Given the description of an element on the screen output the (x, y) to click on. 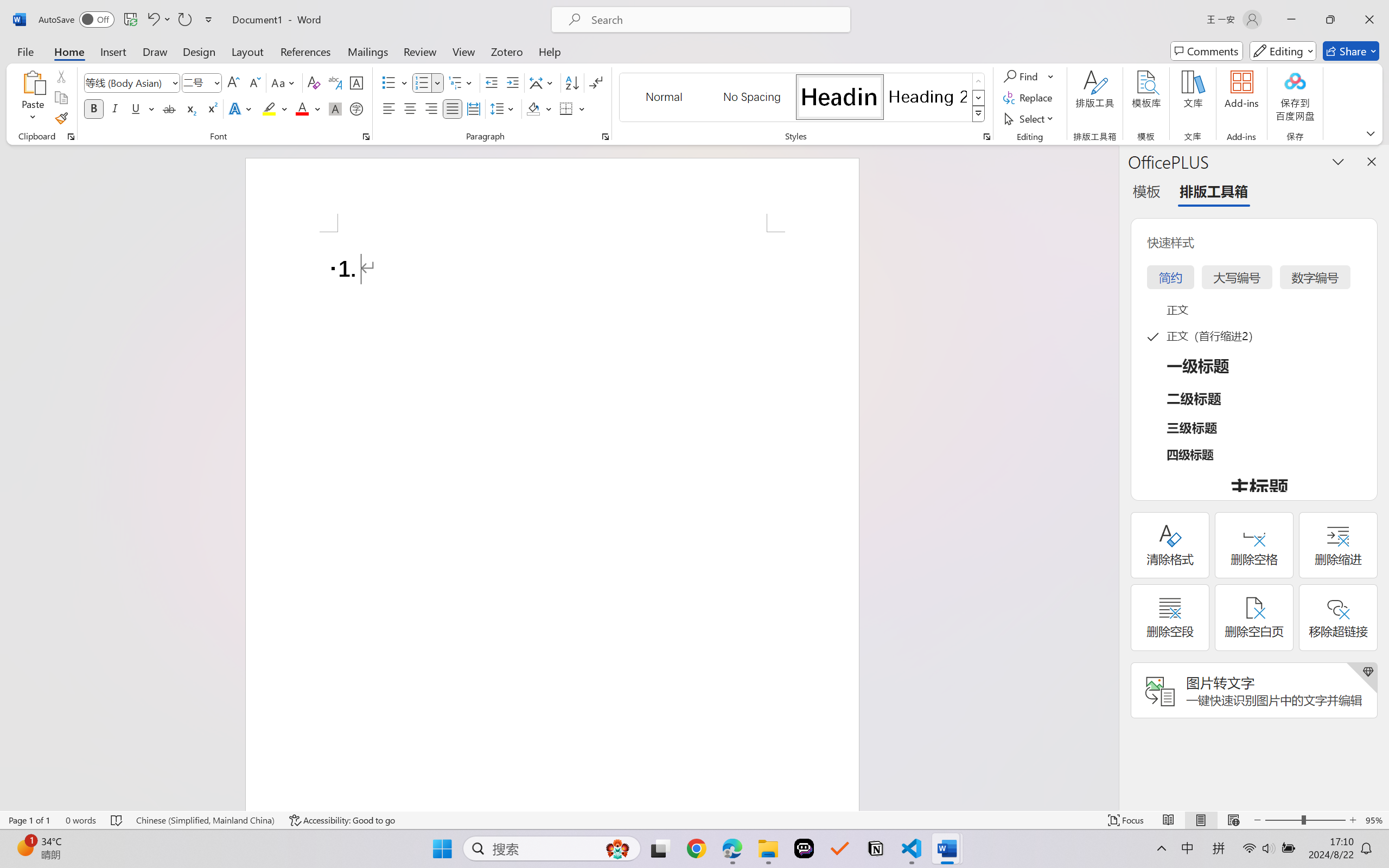
Language Chinese (Simplified, Mainland China) (205, 819)
